Given the description of an element on the screen output the (x, y) to click on. 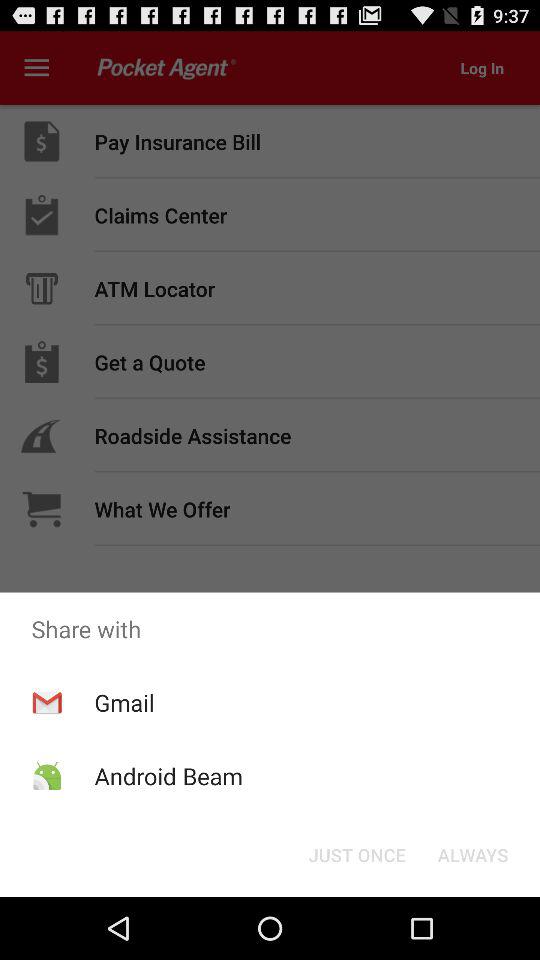
launch always at the bottom right corner (472, 854)
